Given the description of an element on the screen output the (x, y) to click on. 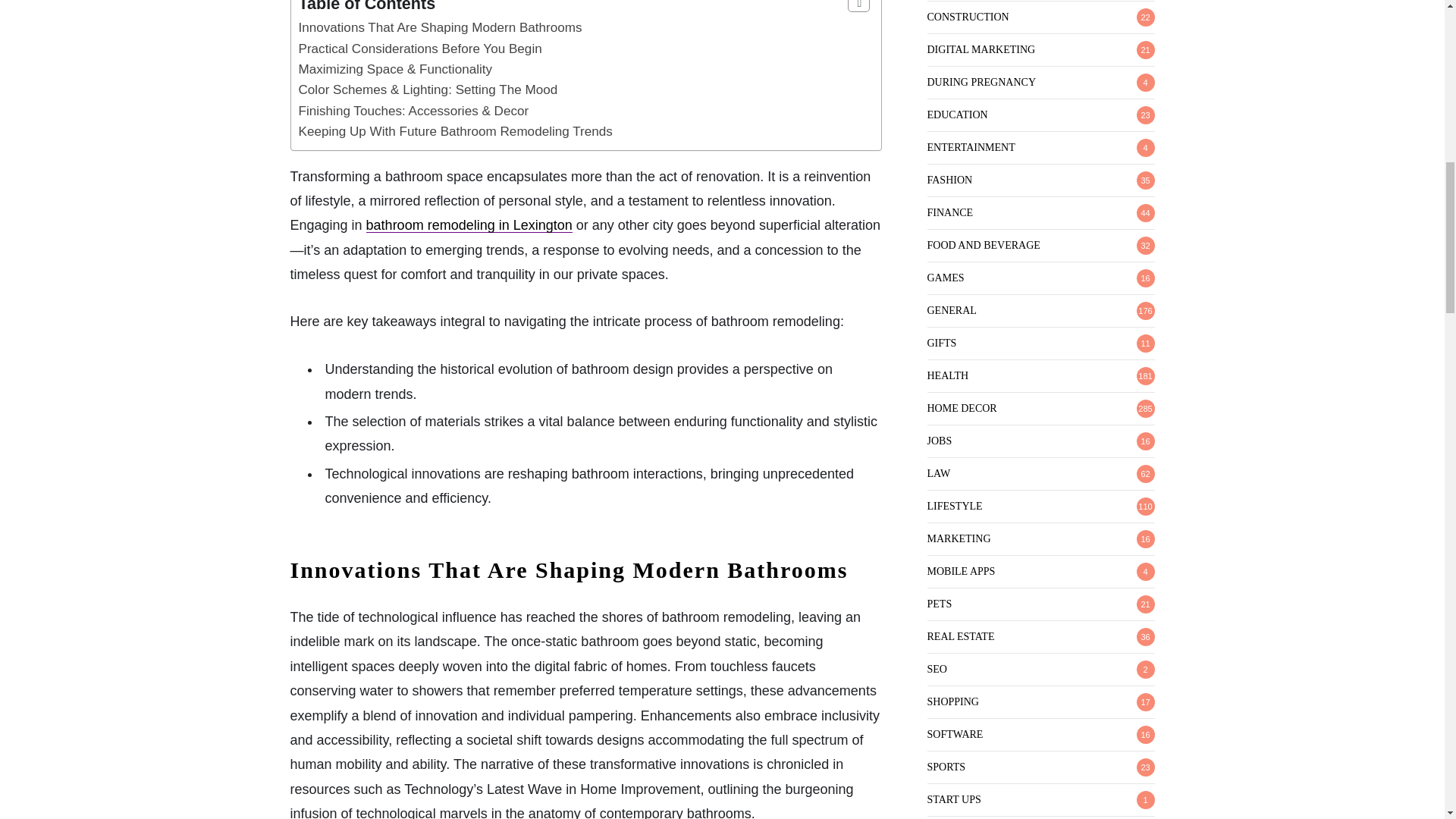
Innovations That Are Shaping Modern Bathrooms (440, 27)
Practical Considerations Before You Begin (419, 48)
Keeping Up With Future Bathroom Remodeling Trends (455, 131)
